Given the description of an element on the screen output the (x, y) to click on. 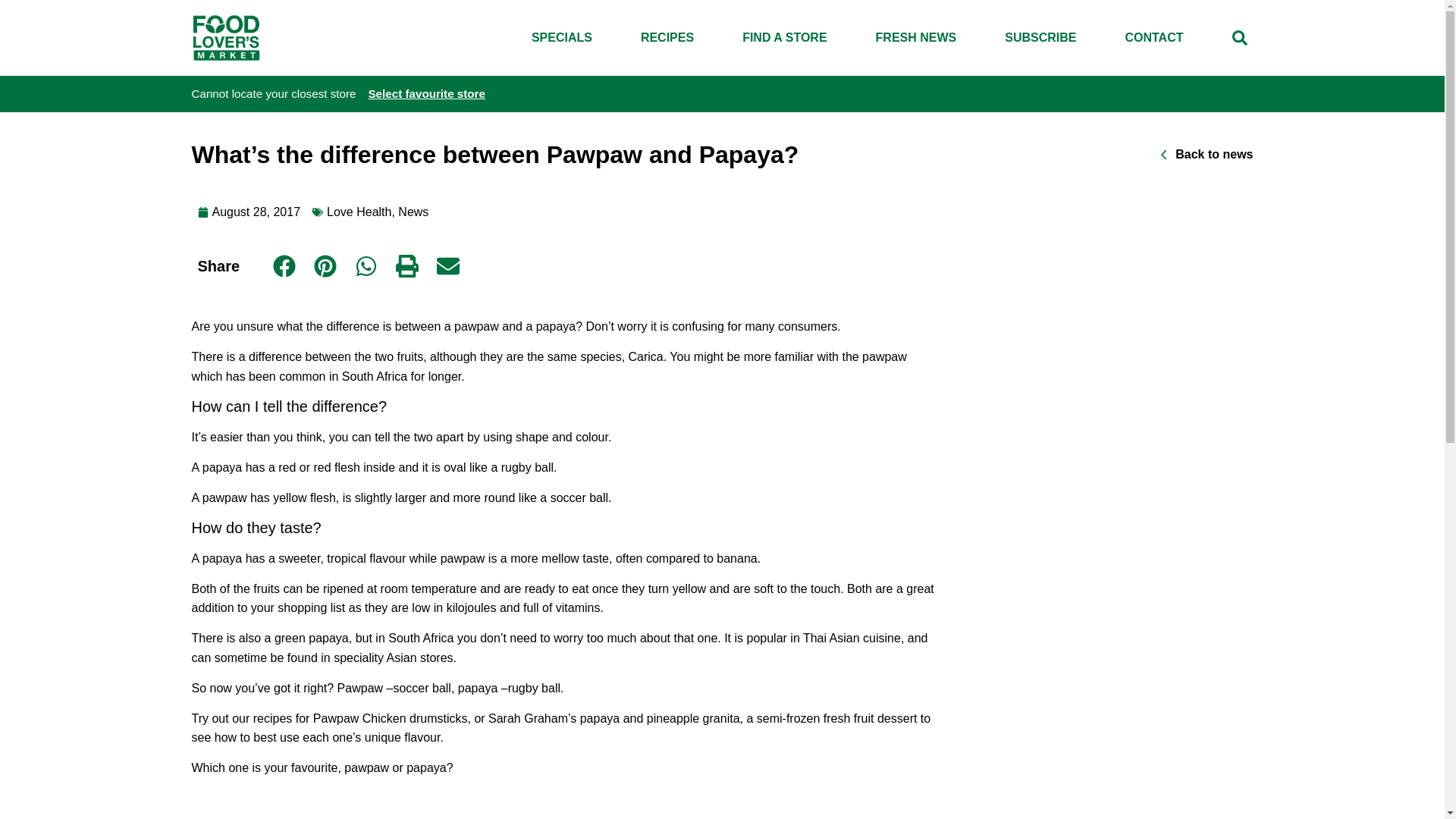
FRESH NEWS (916, 37)
August 28, 2017 (247, 212)
FIND A STORE (784, 37)
RECIPES (667, 37)
Back to news (1205, 154)
SPECIALS (561, 37)
SUBSCRIBE (1039, 37)
CONTACT (1153, 37)
Select favourite store (426, 92)
